Given the description of an element on the screen output the (x, y) to click on. 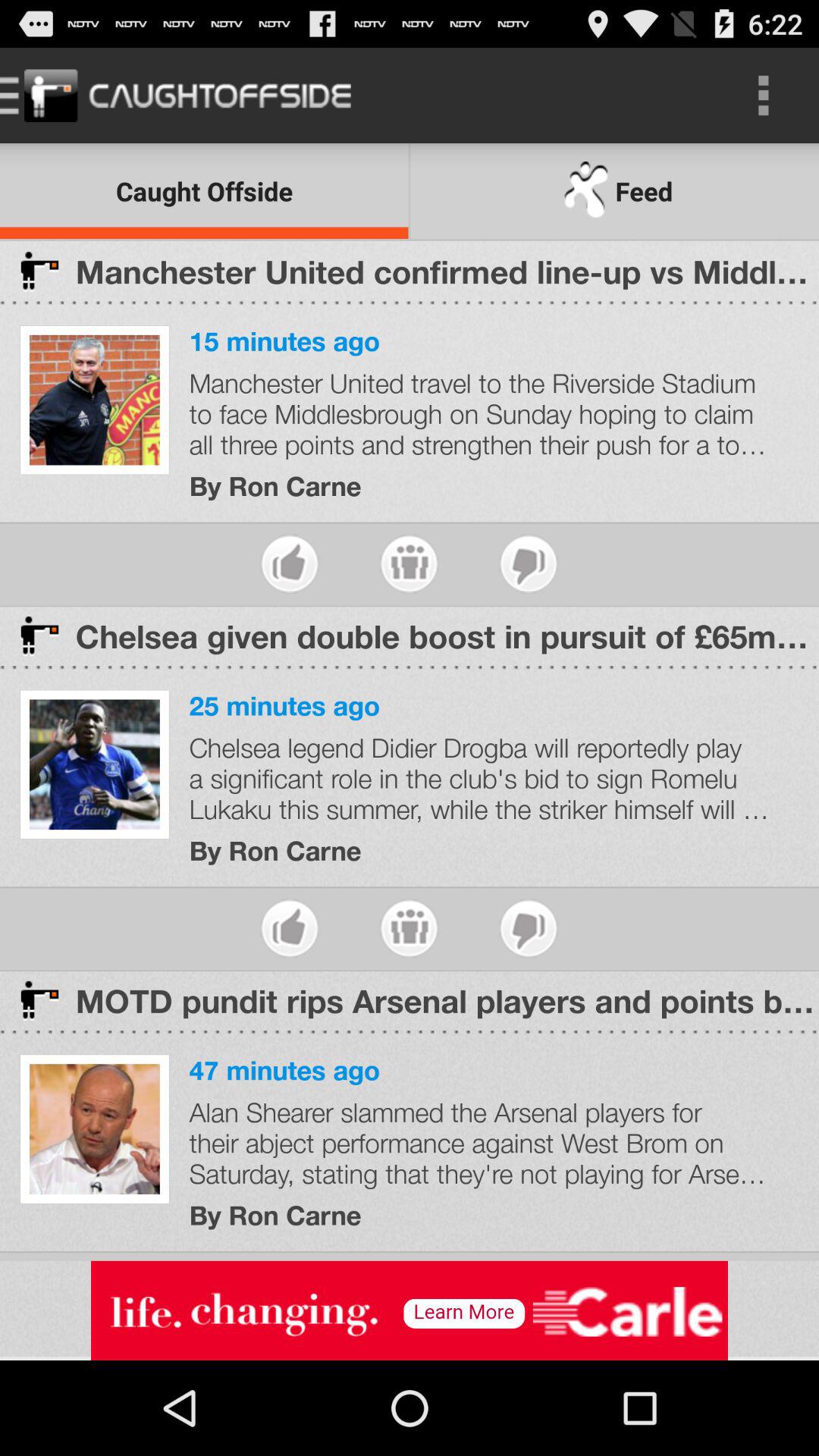
neutral opinion (409, 928)
